Given the description of an element on the screen output the (x, y) to click on. 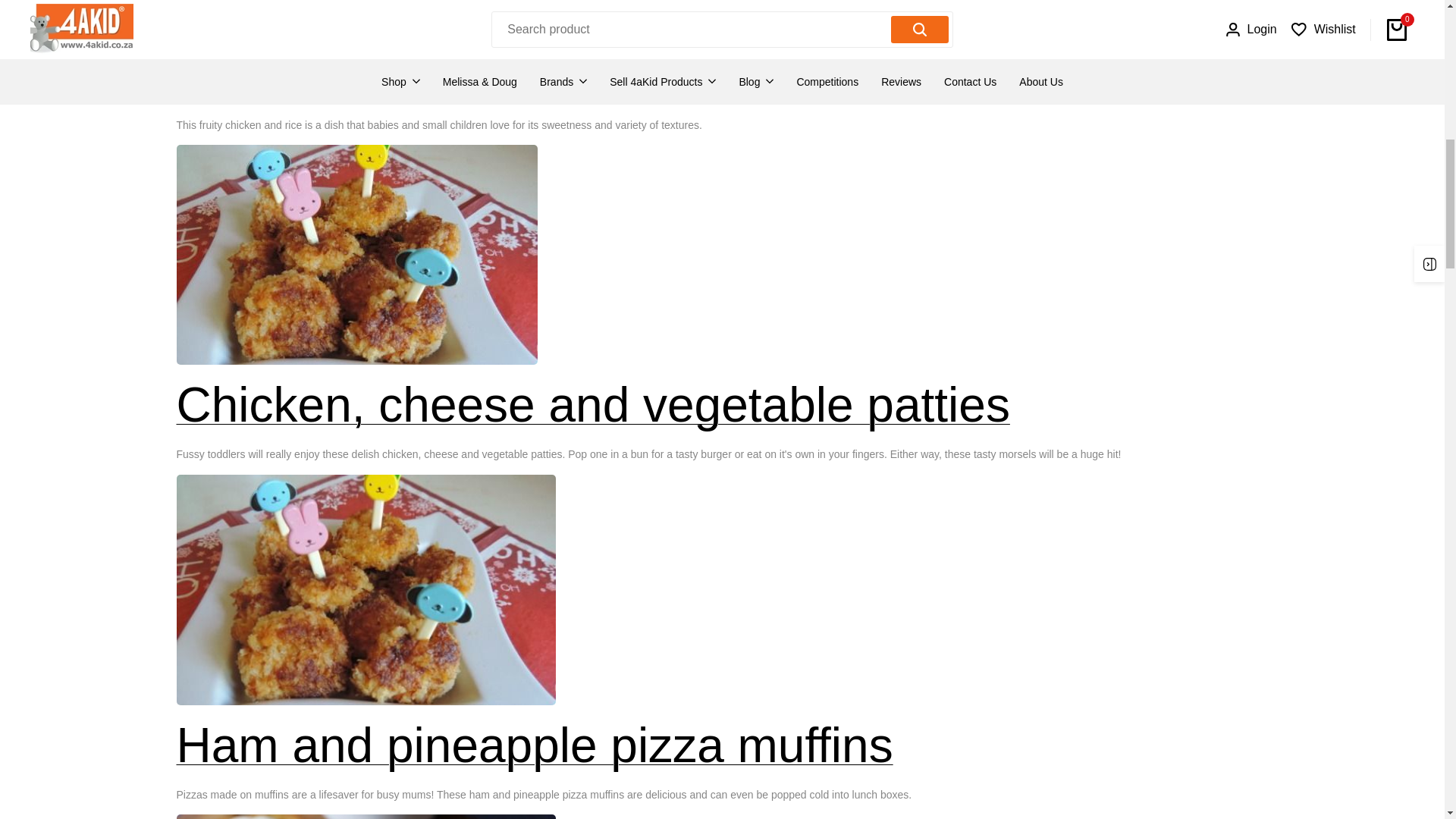
Chicken, cheese and vegetable patties (356, 254)
Ham and pineapple pizza muffins (365, 590)
Fruity chicken and rice (418, 75)
Vegetable pikelets (365, 816)
Chicken, cheese and vegetable patties (592, 404)
Ham and pineapple pizza muffins (534, 745)
